Given the description of an element on the screen output the (x, y) to click on. 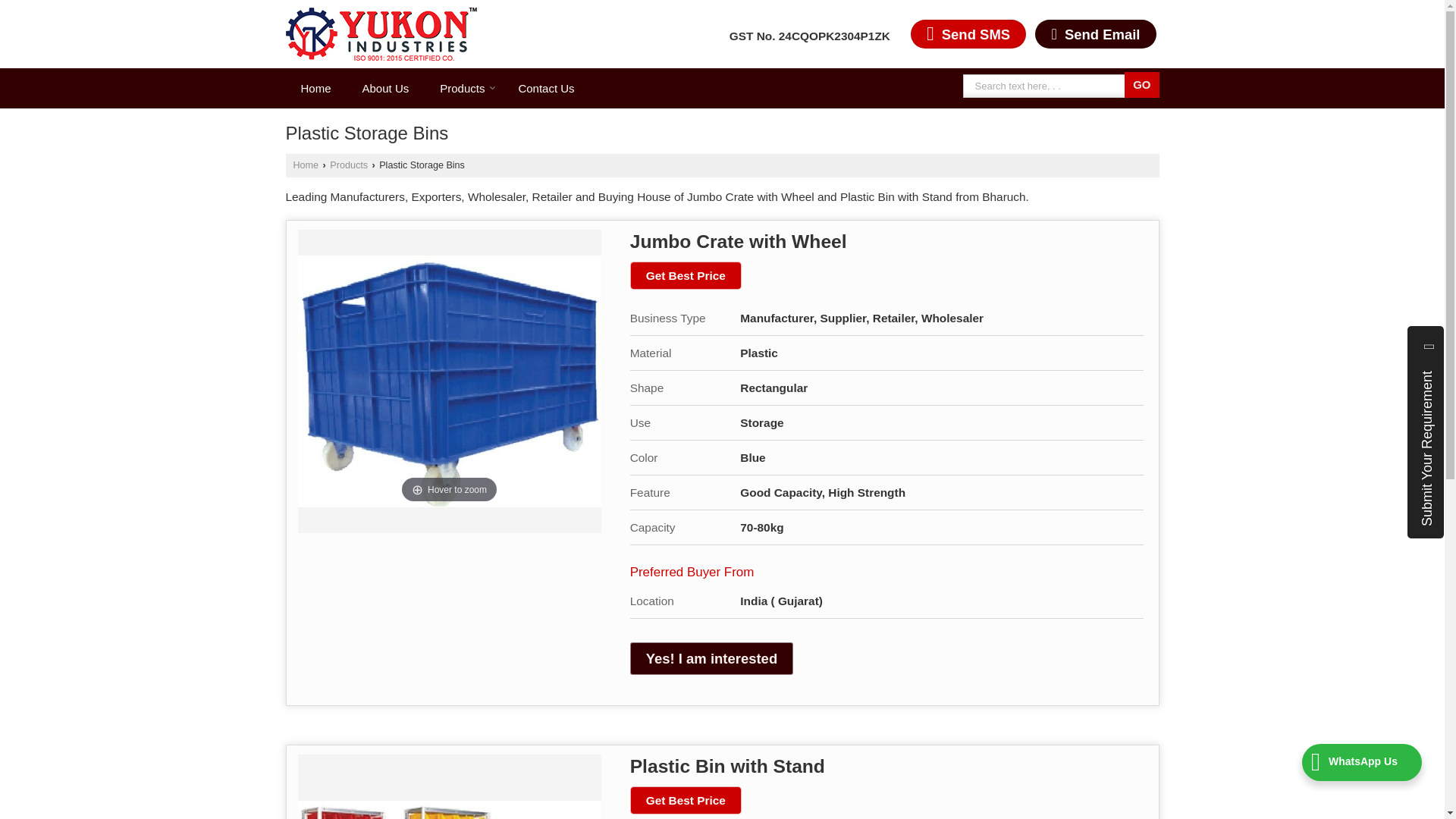
Products (463, 88)
Send Email (1095, 33)
Yukon Industries (380, 33)
Send SMS (968, 33)
Home (315, 88)
GO (1141, 84)
About Us (386, 88)
Products (463, 88)
Search text here. . . (1046, 85)
About Us (386, 88)
Home (315, 88)
